Given the description of an element on the screen output the (x, y) to click on. 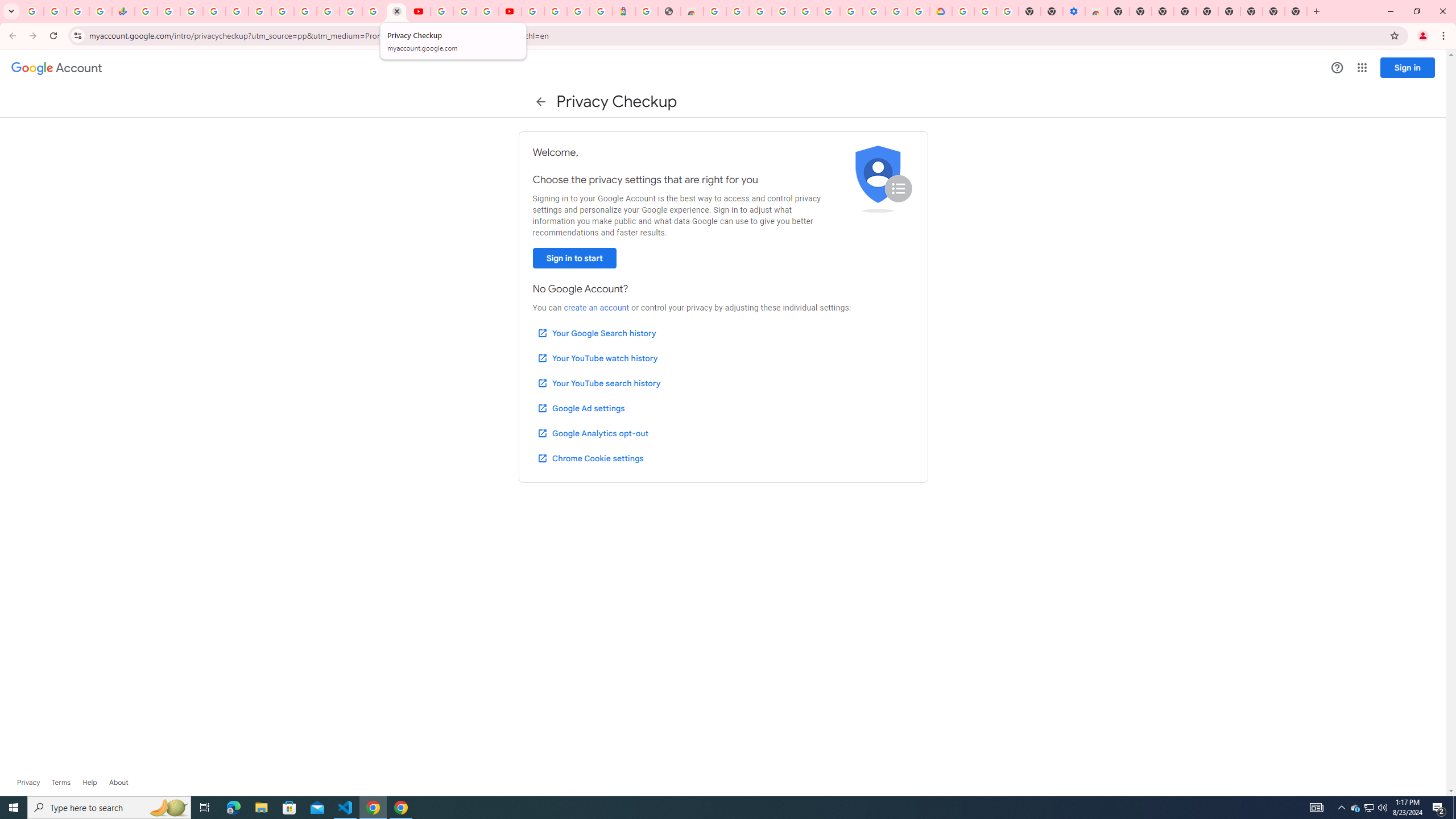
New Tab (1295, 11)
Google Account settings (56, 68)
Chrome Web Store - Household (692, 11)
YouTube (441, 11)
Sign in - Google Accounts (805, 11)
Privacy Checkup (396, 11)
Your Google Search history (596, 332)
Chrome Web Store - Accessibility extensions (1096, 11)
Android TV Policies and Guidelines - Transparency Center (282, 11)
